Given the description of an element on the screen output the (x, y) to click on. 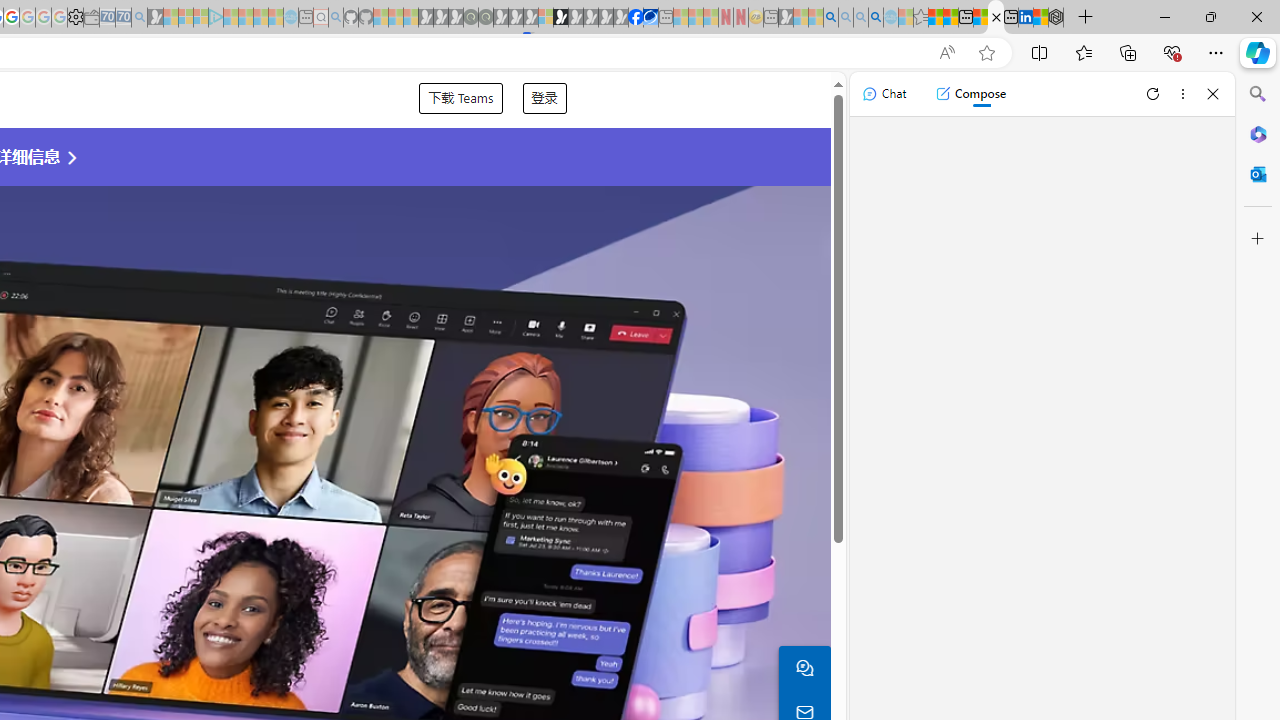
MSN - Sleeping (786, 17)
Bing Real Estate - Home sales and rental listings - Sleeping (139, 17)
Sign in to your account - Sleeping (545, 17)
